Given the description of an element on the screen output the (x, y) to click on. 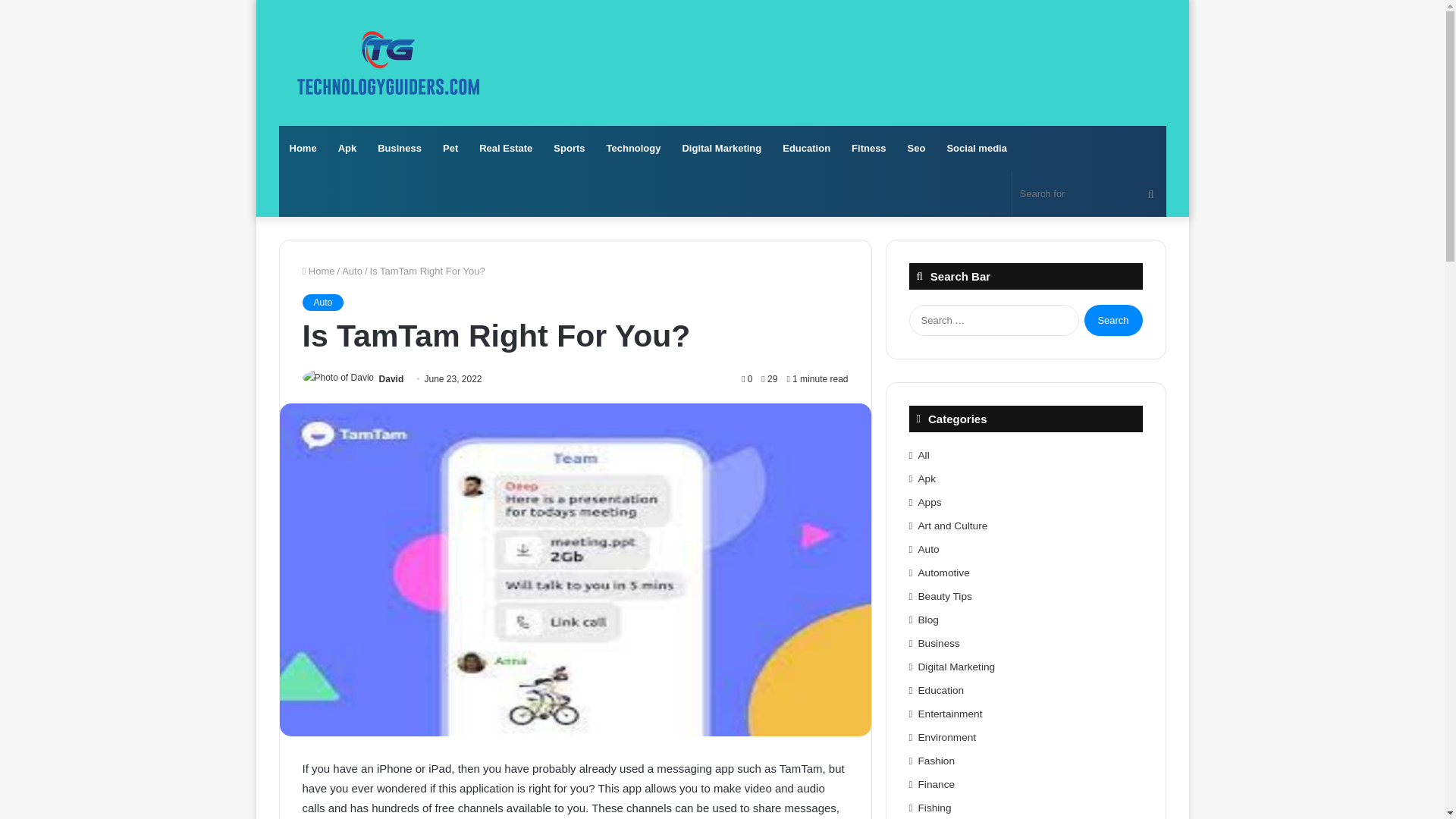
Real Estate (505, 148)
Fitness (868, 148)
Digital Marketing (721, 148)
Auto (322, 302)
Search (1113, 319)
Education (806, 148)
Technology (633, 148)
Sports (569, 148)
David (391, 378)
Home (303, 148)
